Given the description of an element on the screen output the (x, y) to click on. 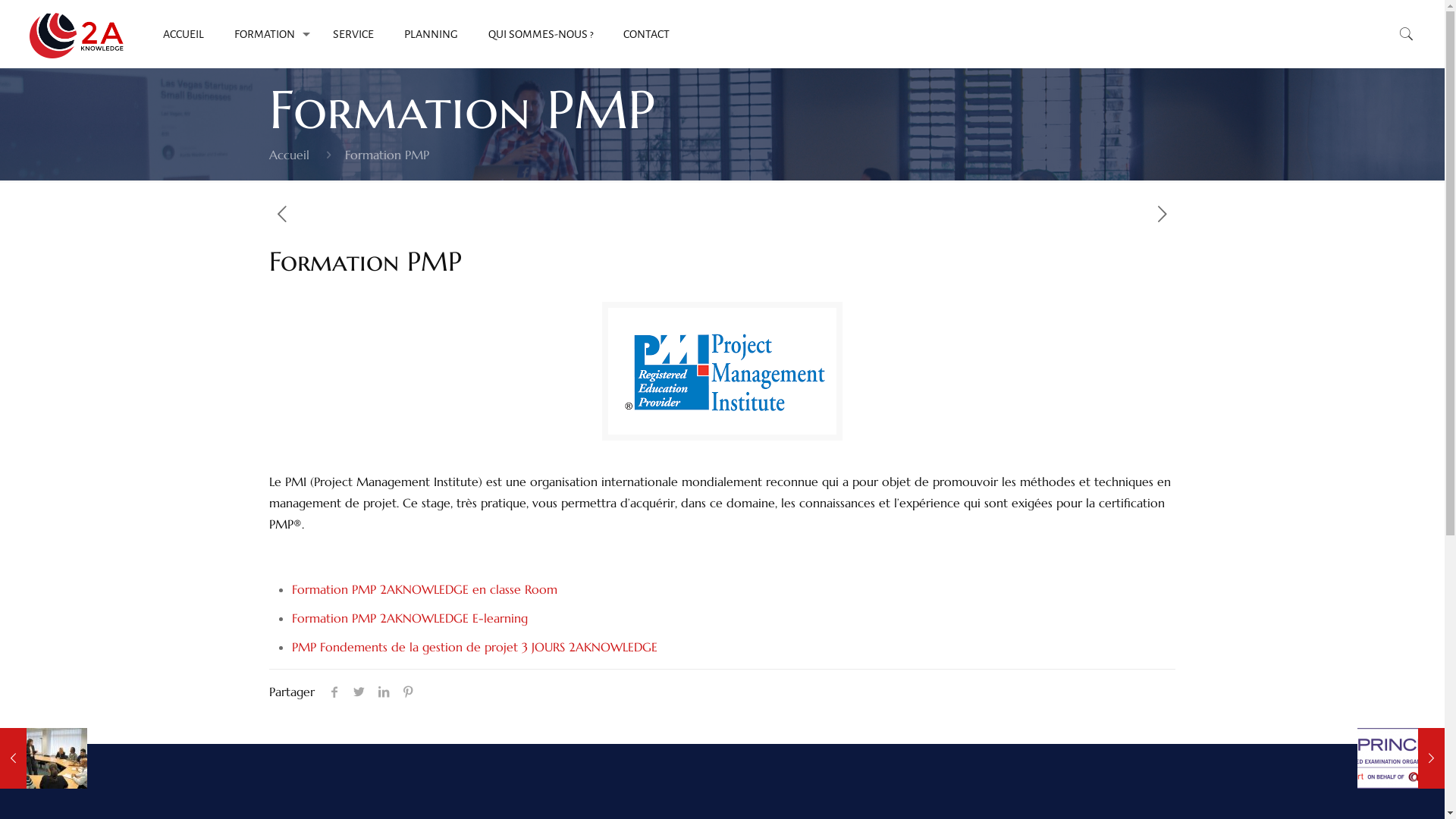
PMP Fondements de la gestion de projet 3 JOURS 2AKNOWLEDGE Element type: text (474, 646)
Formation PMP 2AKNOWLEDGE E-learning Element type: text (409, 617)
Formation PMP 2AKNOWLEDGE en classe Room Element type: text (424, 588)
CONTACT Element type: text (646, 34)
QUI SOMMES-NOUS ? Element type: text (540, 34)
Formation PMP Element type: text (387, 154)
SERVICE Element type: text (353, 34)
ACCUEIL Element type: text (183, 34)
PLANNING Element type: text (431, 34)
Accueil Element type: text (289, 154)
FORMATION Element type: text (268, 34)
2AKnowledge Element type: hover (77, 34)
